Given the description of an element on the screen output the (x, y) to click on. 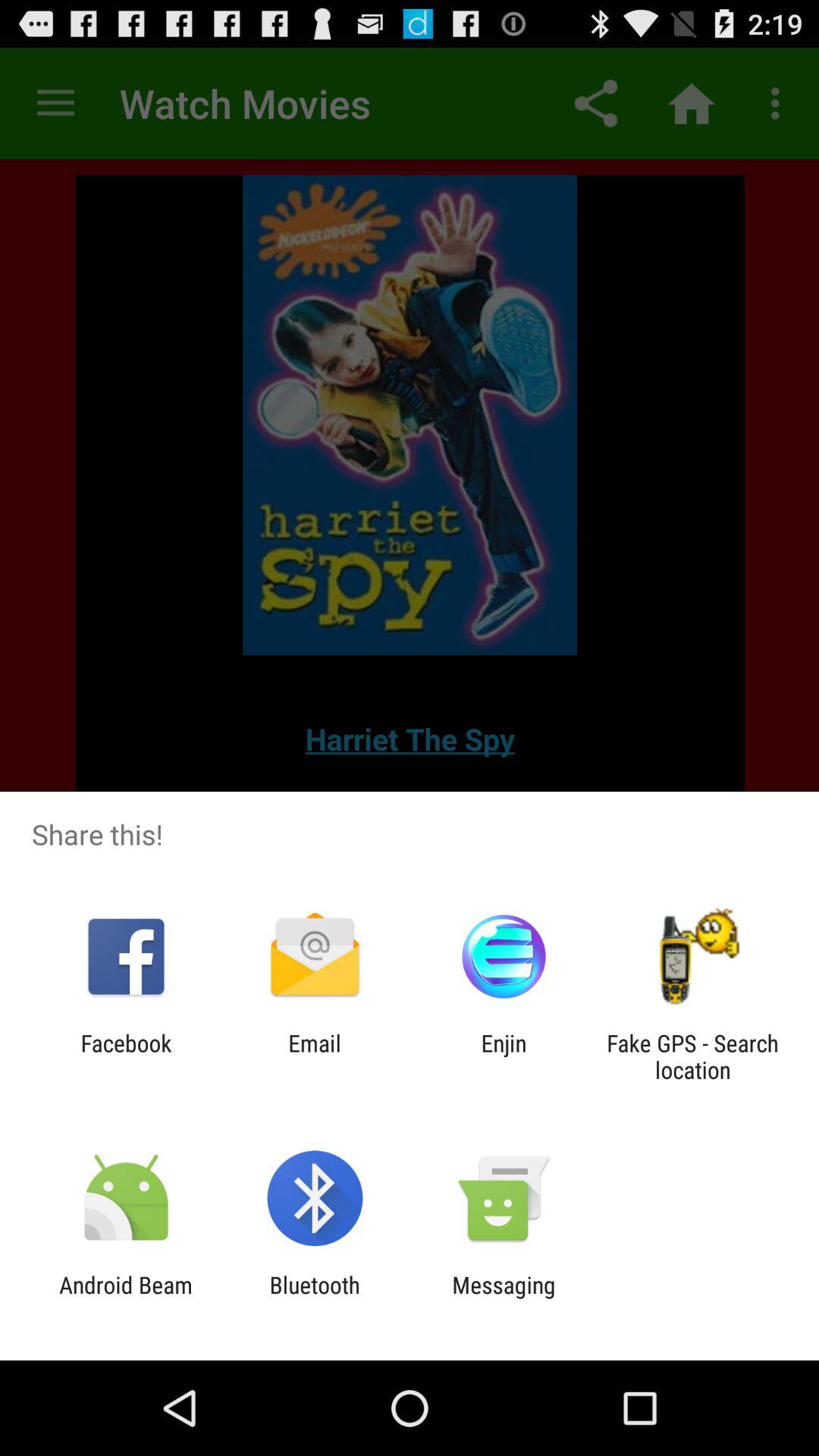
tap item to the left of the enjin app (314, 1056)
